Given the description of an element on the screen output the (x, y) to click on. 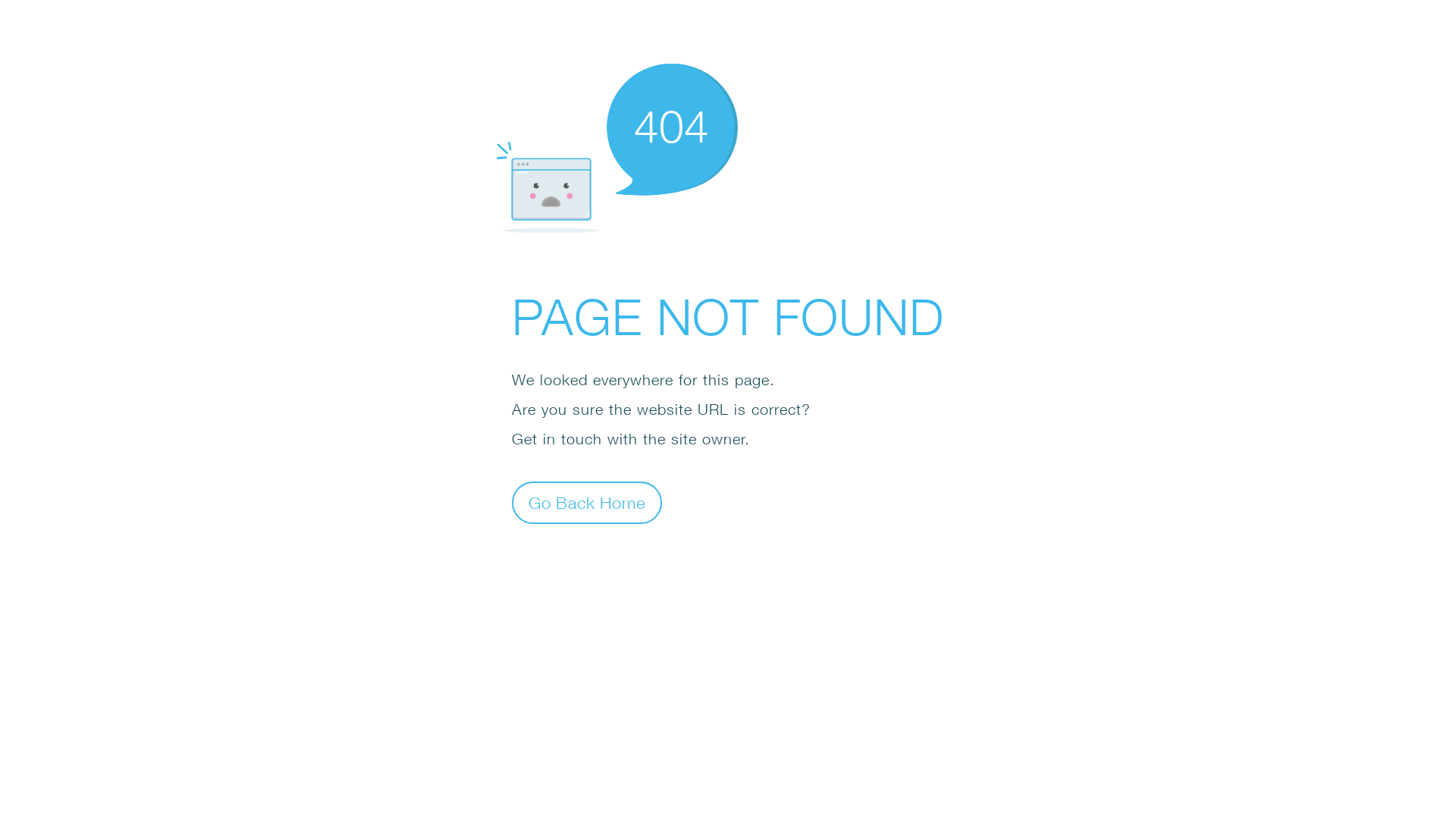
Go Back Home Element type: text (586, 502)
